Given the description of an element on the screen output the (x, y) to click on. 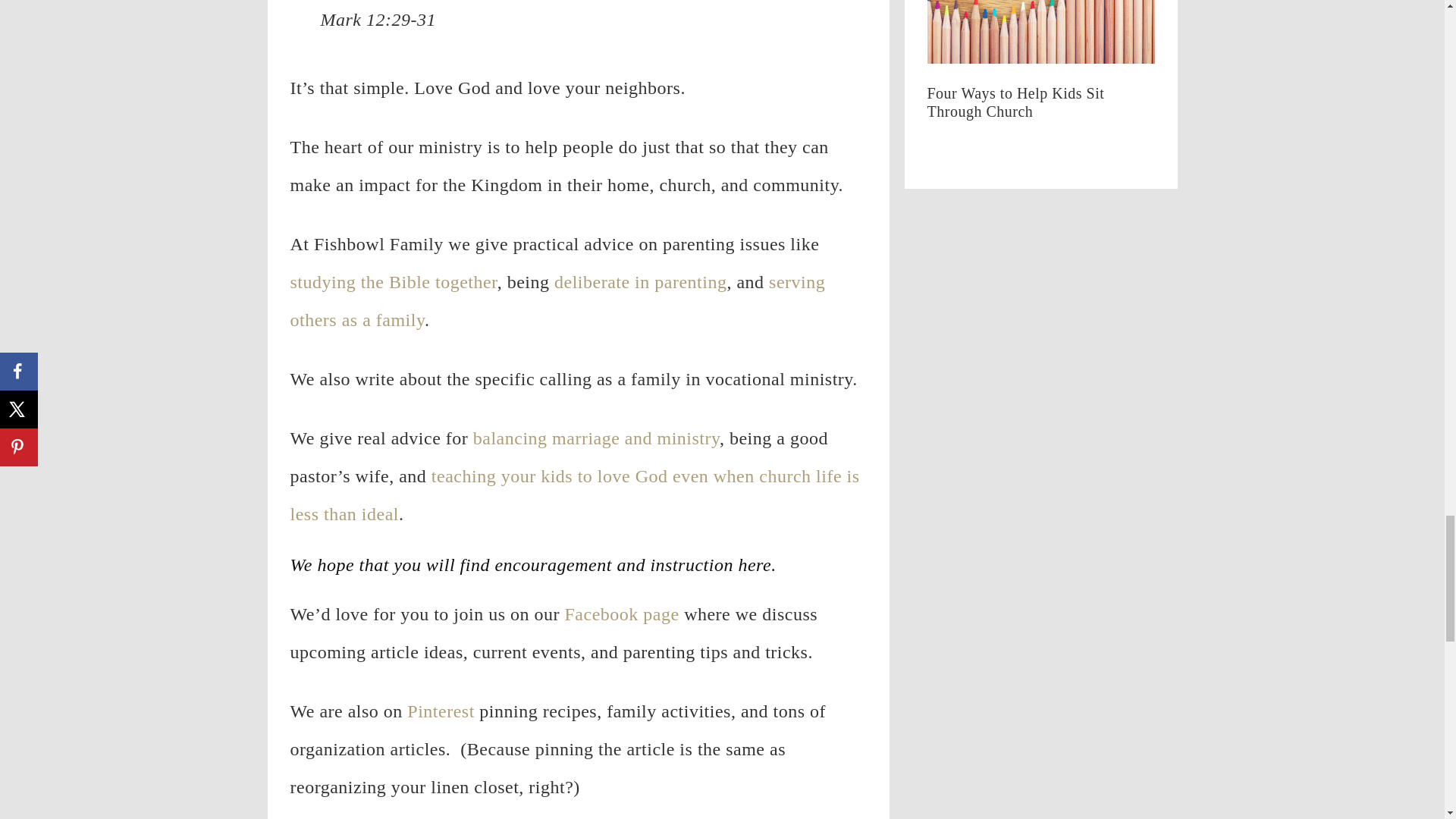
serving others as a family (557, 300)
deliberate in parenting (640, 281)
balancing marriage and ministry (596, 437)
studying the Bible together (392, 281)
Four Ways to Help Kids Sit Through Church (1040, 111)
Four Ways to Help Kids Sit Through Church (1040, 35)
Facebook page (619, 614)
Pinterest (440, 711)
